Given the description of an element on the screen output the (x, y) to click on. 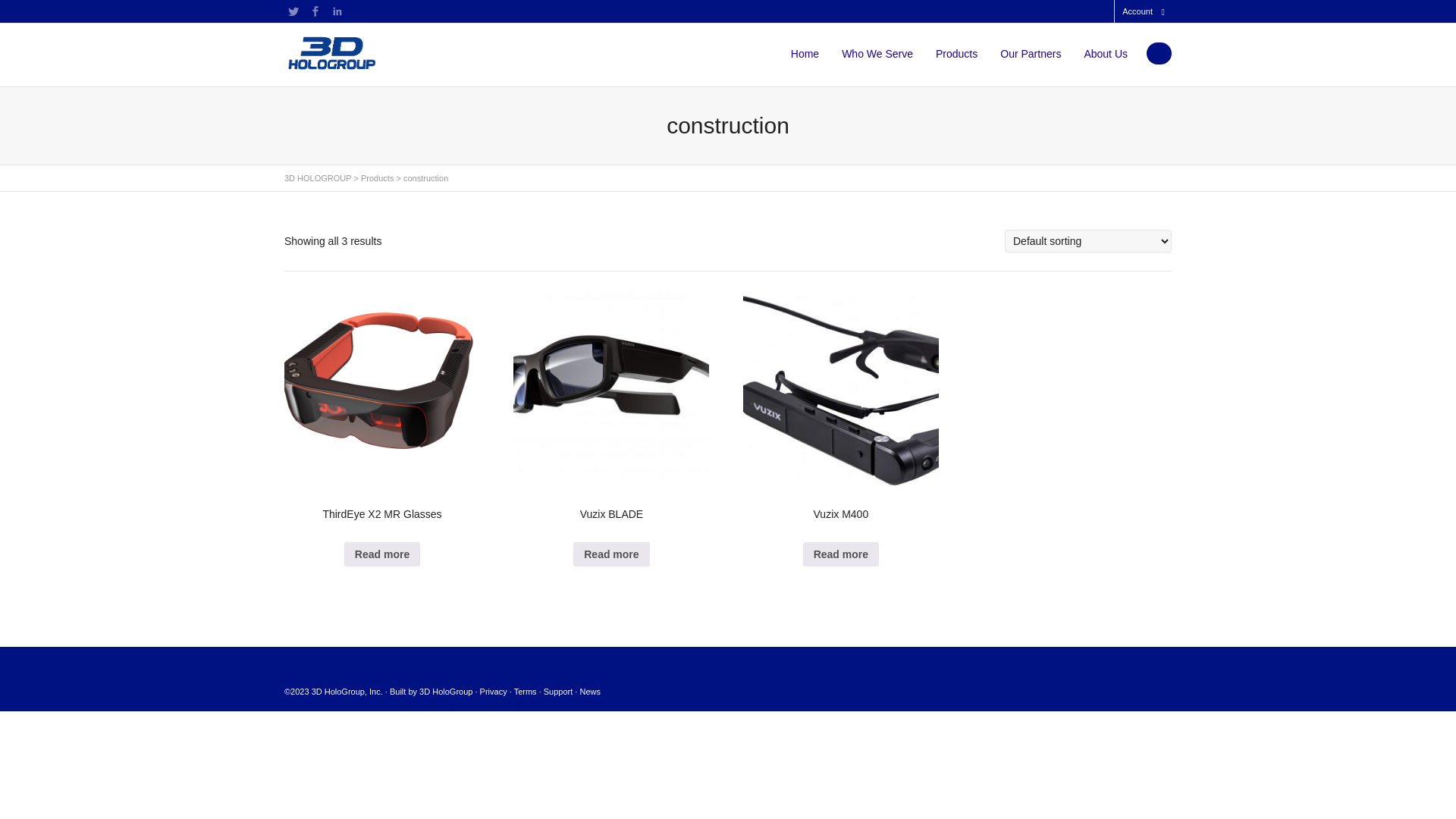
Read more Element type: text (840, 553)
Read more Element type: text (382, 553)
Products Element type: text (376, 177)
Vuzix-Blade2 side Element type: hover (611, 388)
Terms Element type: text (525, 691)
Home Element type: text (804, 53)
Read more Element type: text (611, 553)
ThirdEye X2 MR Glasses Element type: text (382, 410)
X2 transparent background Element type: hover (382, 388)
Our Partners Element type: text (1030, 53)
News Element type: text (589, 691)
LinkedIn Element type: text (337, 11)
Privacy Element type: text (493, 691)
3D HOLOGROUP Element type: text (317, 177)
Vuzix BLADE Element type: text (611, 410)
Twitter Element type: text (293, 11)
Products Element type: text (956, 53)
m4001 Element type: hover (840, 388)
Who We Serve Element type: text (877, 53)
Support Element type: text (558, 691)
Facebook Element type: text (315, 11)
Account Element type: text (1137, 11)
Vuzix M400 Element type: text (840, 410)
3D HoloGroup Element type: text (445, 691)
About Us Element type: text (1105, 53)
